Given the description of an element on the screen output the (x, y) to click on. 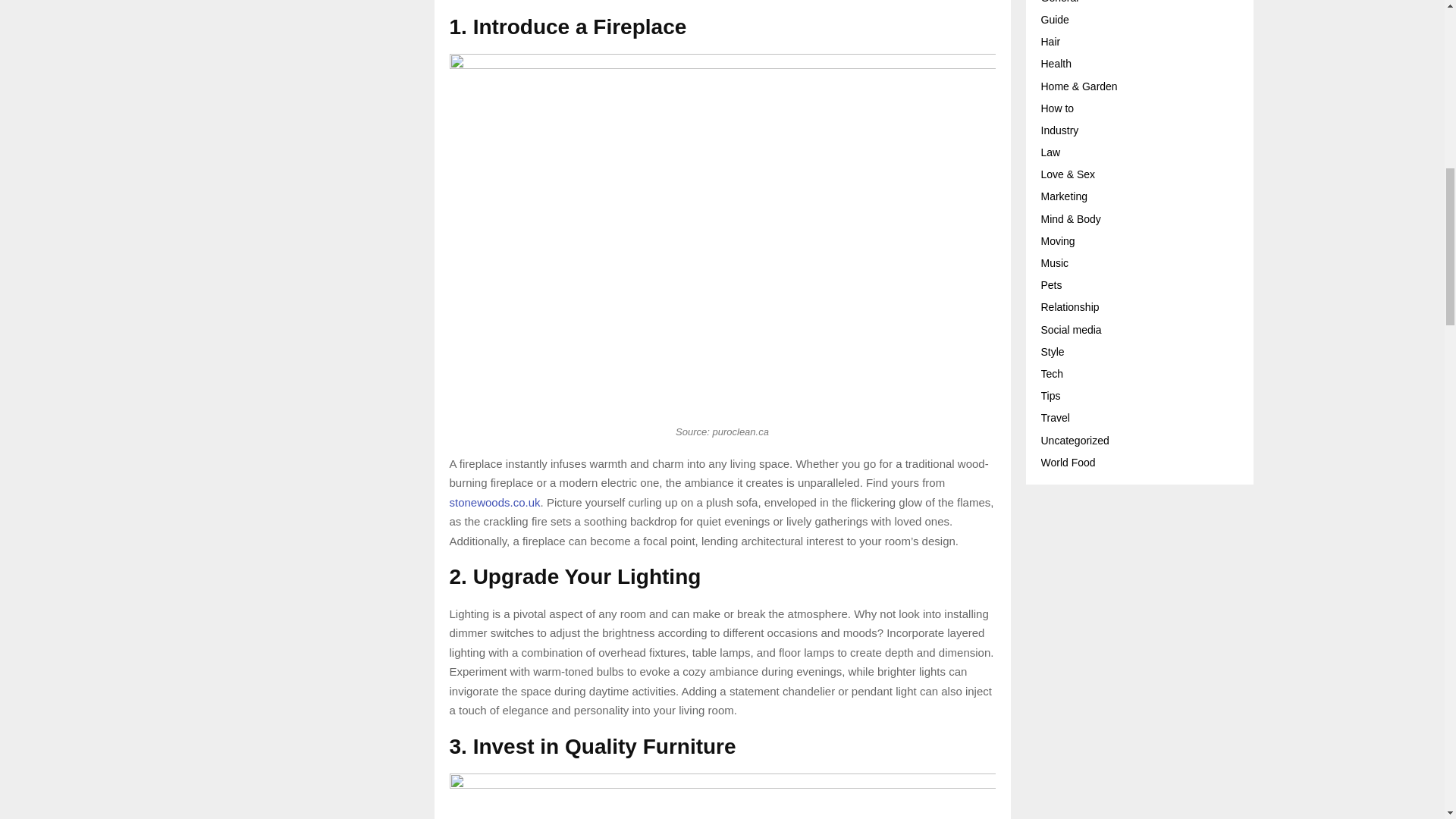
stonewoods.co.uk (494, 502)
